Given the description of an element on the screen output the (x, y) to click on. 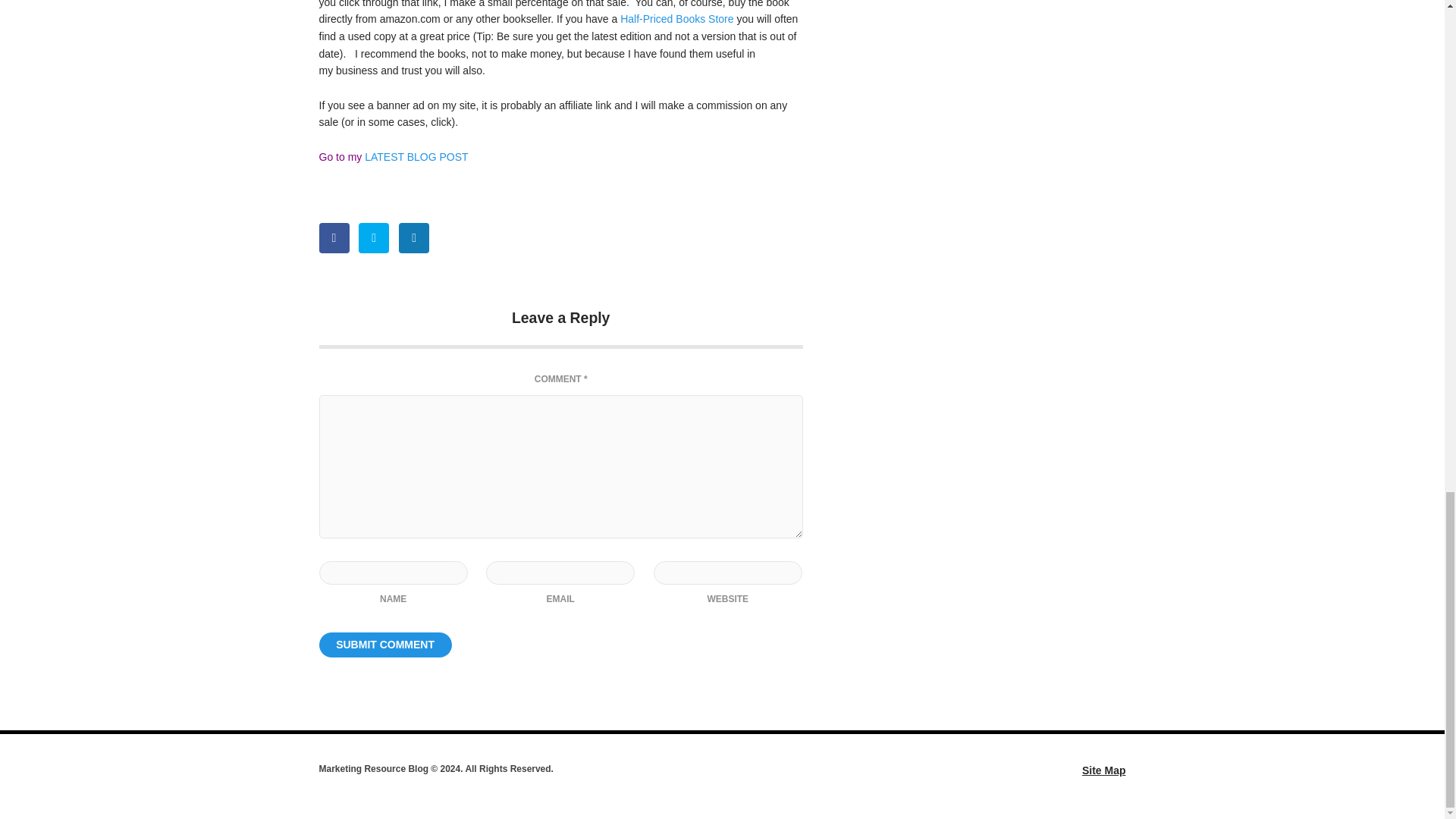
Submit Comment (384, 644)
Submit Comment (384, 644)
blog (414, 156)
LATEST BLOG POST (414, 156)
Half-Priced Books Store (676, 19)
